Given the description of an element on the screen output the (x, y) to click on. 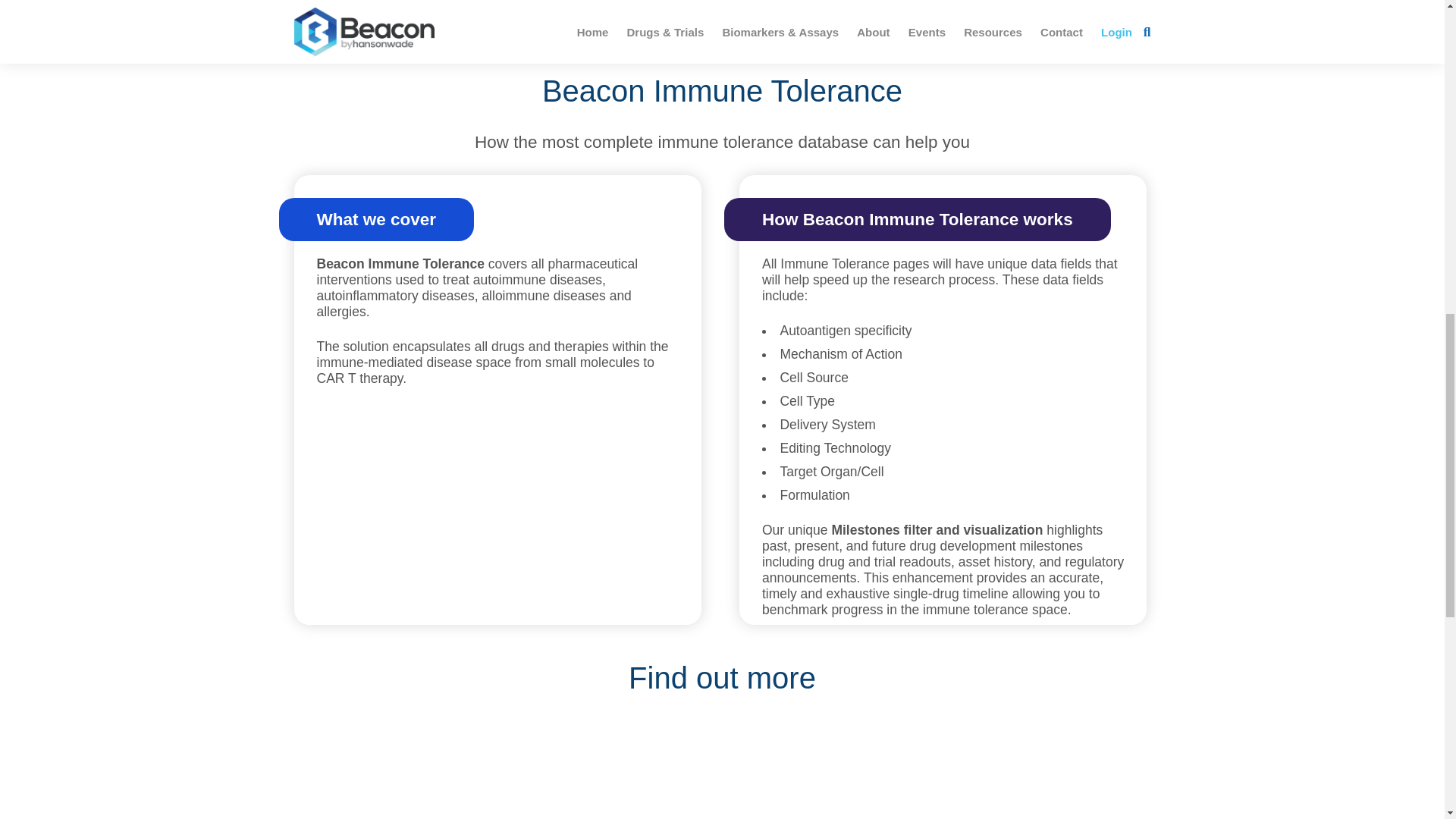
Download Now (509, 6)
